Given the description of an element on the screen output the (x, y) to click on. 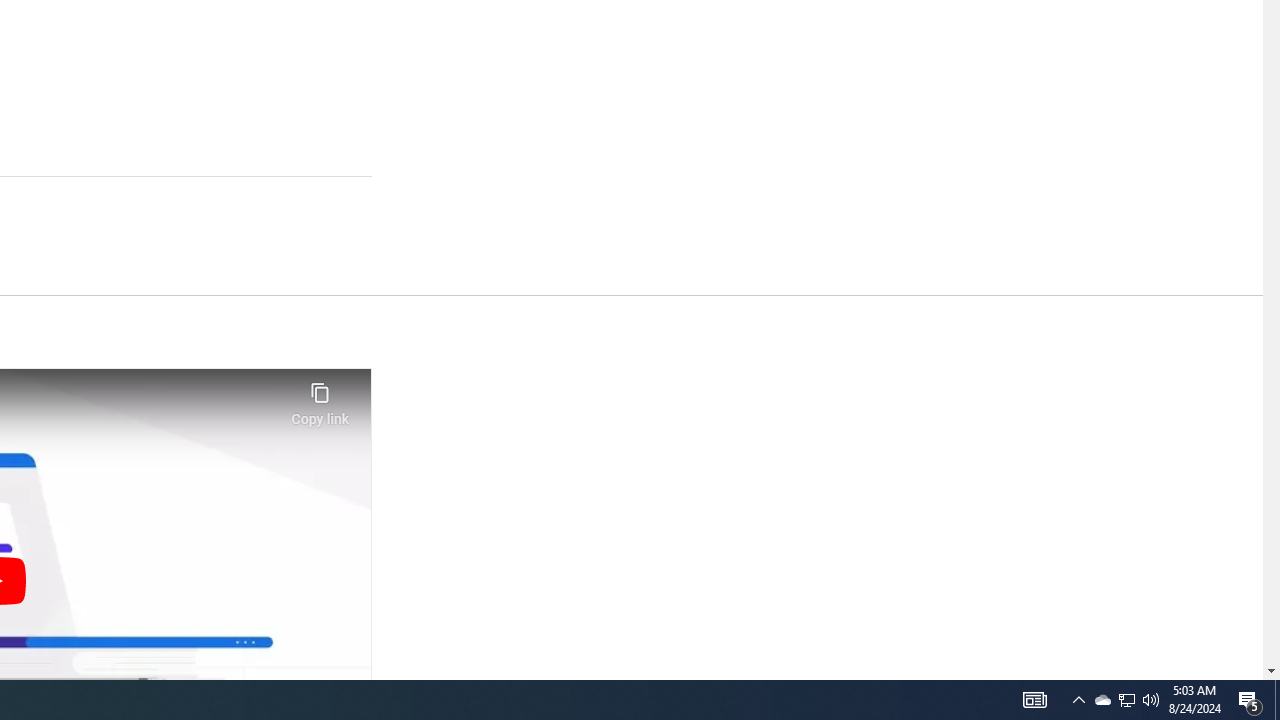
Copy link (319, 398)
